Given the description of an element on the screen output the (x, y) to click on. 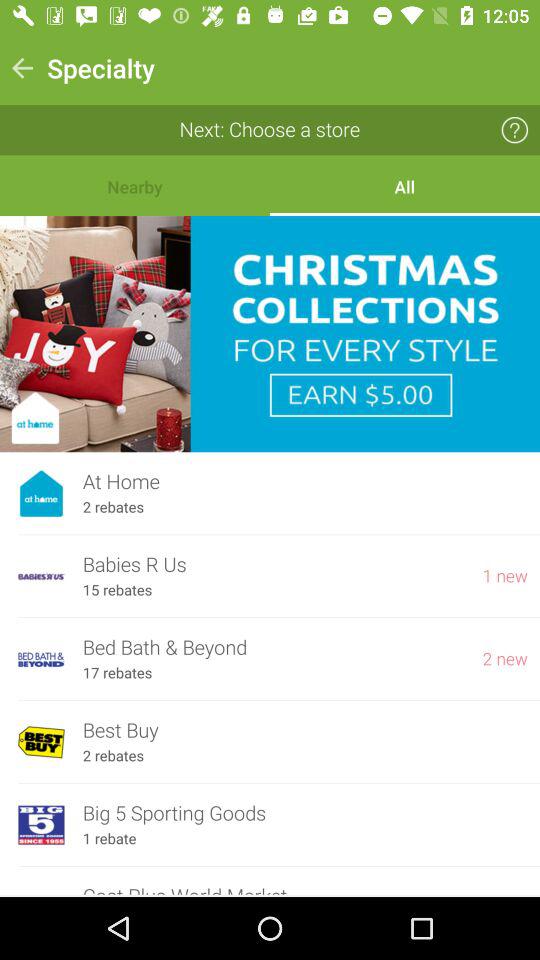
tap the item next to the specialty (22, 67)
